Given the description of an element on the screen output the (x, y) to click on. 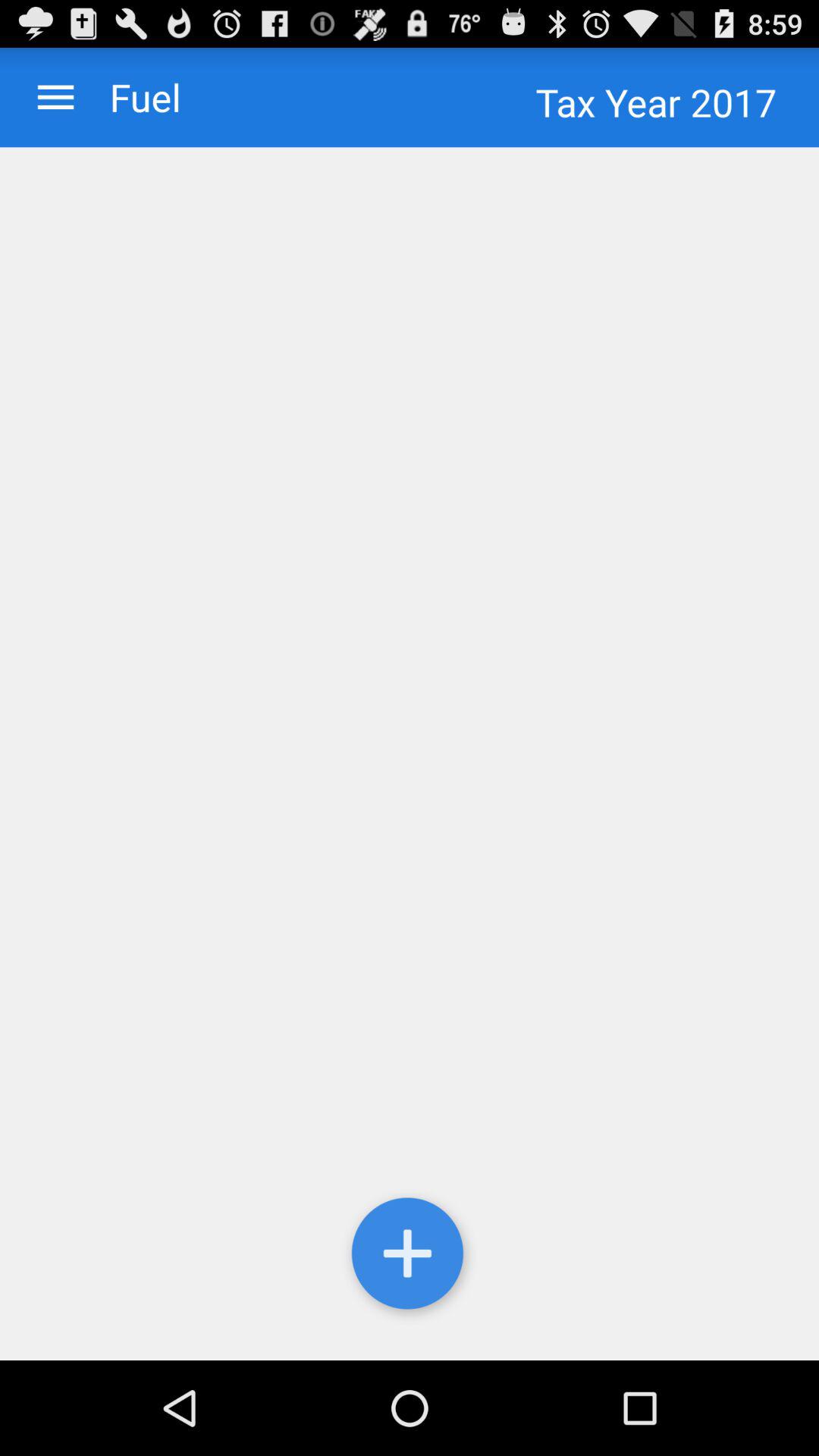
press fuel item (129, 96)
